Given the description of an element on the screen output the (x, y) to click on. 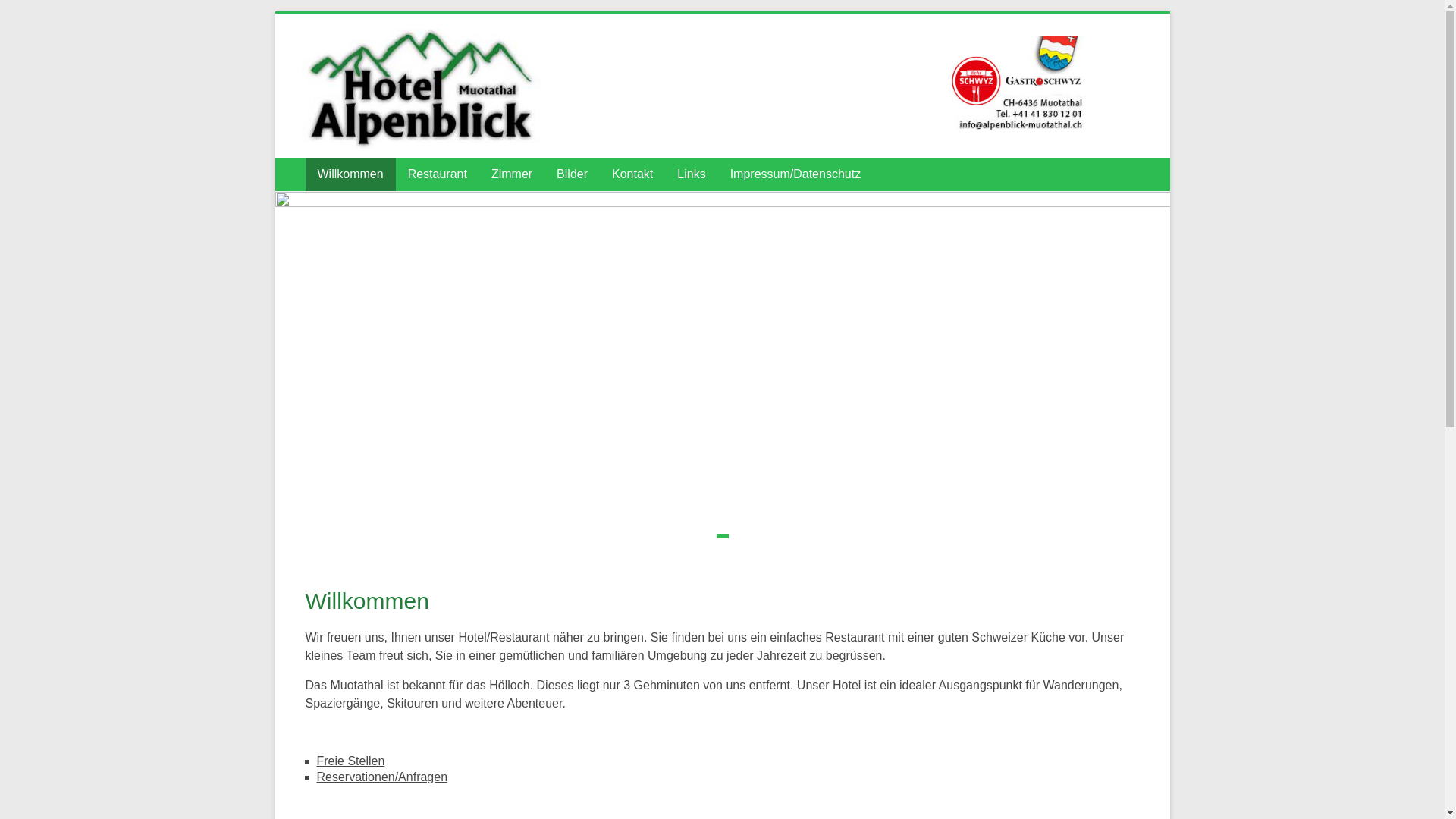
Zimmer Element type: text (511, 174)
Freie Stellen Element type: text (350, 760)
Impressum/Datenschutz Element type: text (795, 174)
Alpenblick Muotathal Element type: text (366, 70)
Restaurant Element type: text (437, 174)
Links Element type: text (691, 174)
Skip to content Element type: text (274, 12)
Kontakt Element type: text (632, 174)
Willkommen Element type: text (349, 174)
Bilder Element type: text (571, 174)
Reservationen/Anfragen Element type: text (382, 776)
